Given the description of an element on the screen output the (x, y) to click on. 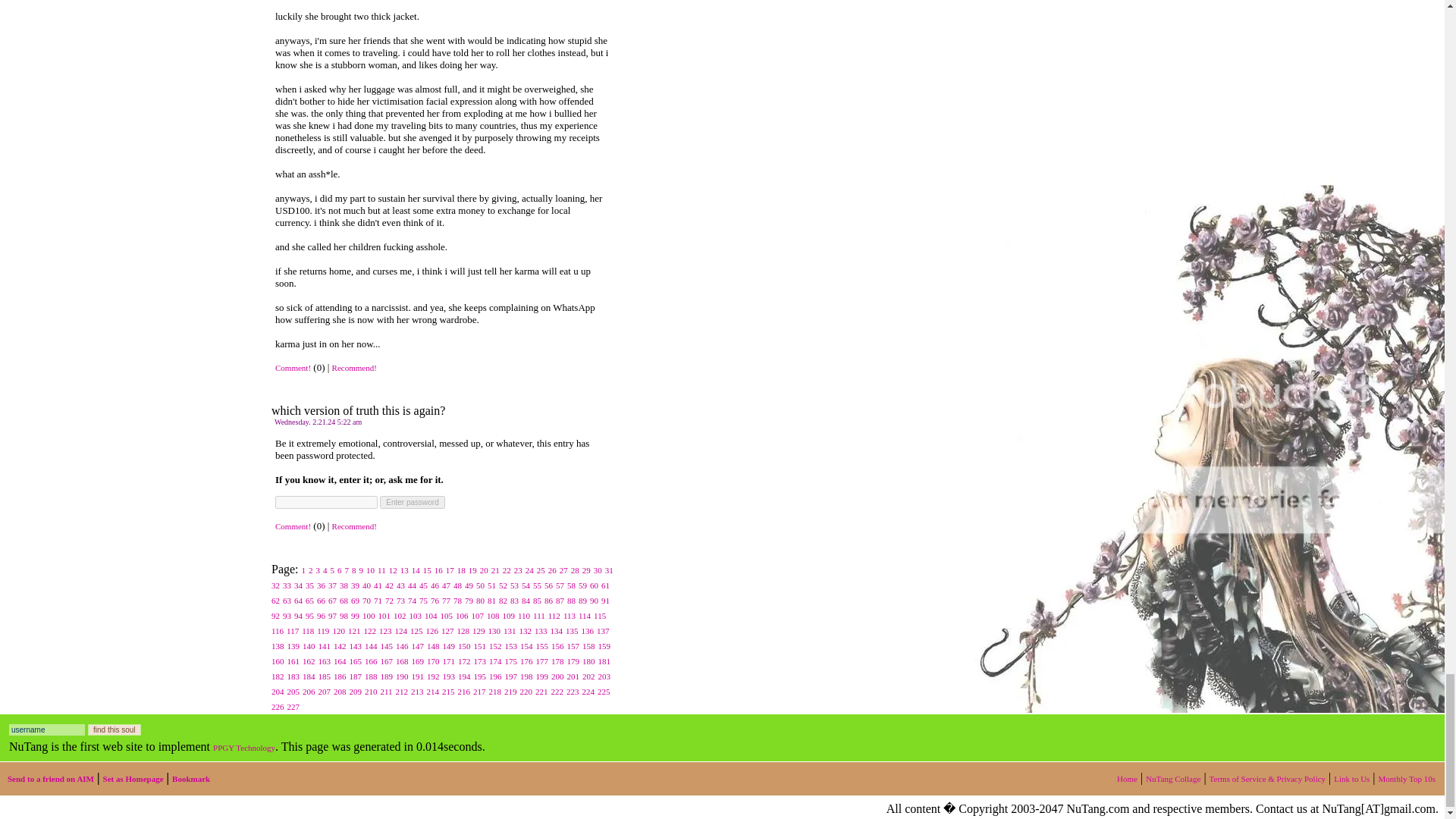
Enter password (412, 502)
find this soul (114, 729)
username (46, 729)
